Given the description of an element on the screen output the (x, y) to click on. 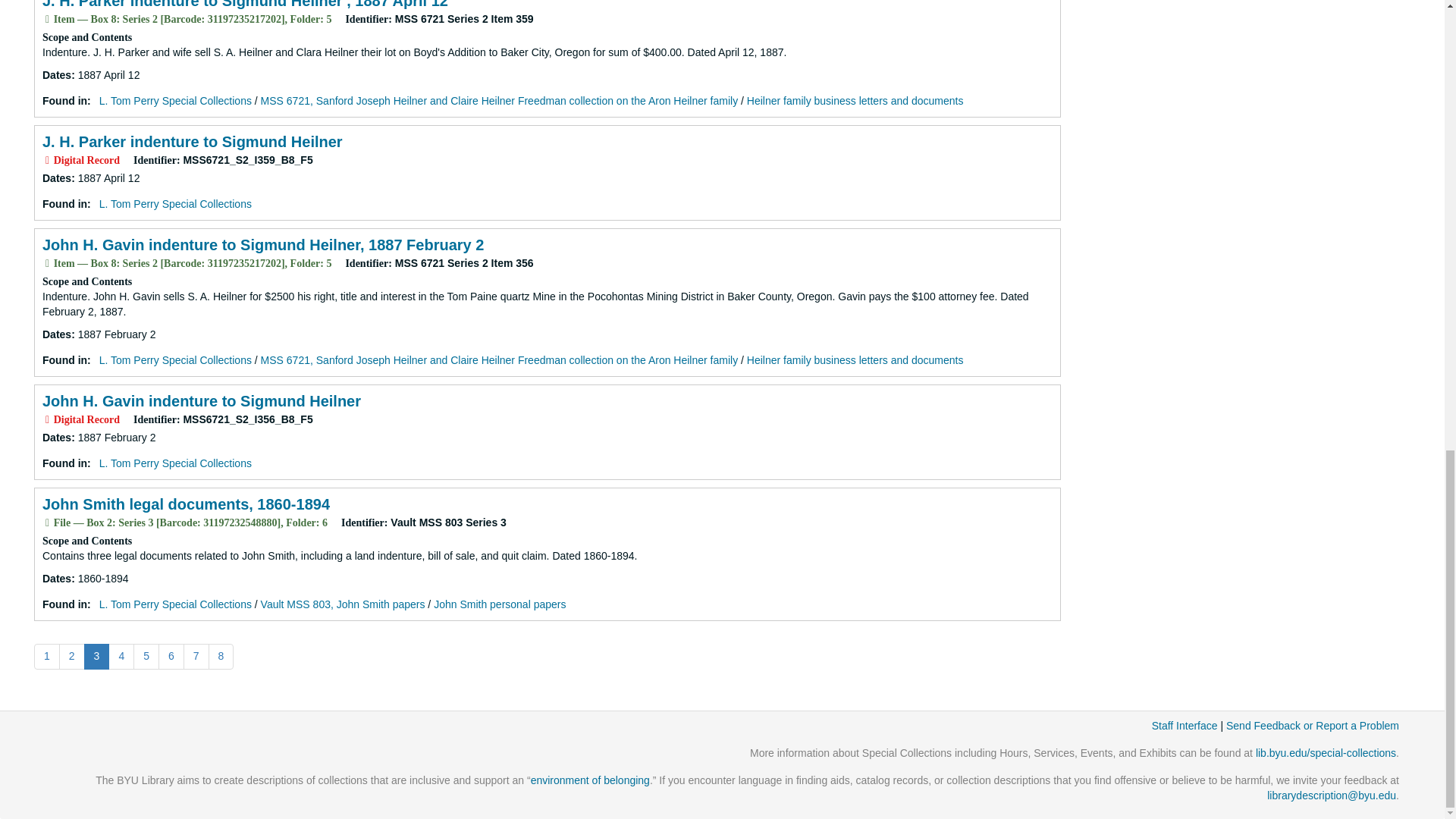
J. H. Parker indenture to Sigmund Heilner , 1887 April 12 (245, 4)
L. Tom Perry Special Collections (175, 203)
translation missing: en.dates (56, 437)
J. H. Parker indenture to Sigmund Heilner (192, 141)
translation missing: en.dates (56, 74)
translation missing: en.dates (56, 177)
translation missing: en.dates (56, 334)
translation missing: en.dates (56, 578)
L. Tom Perry Special Collections (175, 101)
